Given the description of an element on the screen output the (x, y) to click on. 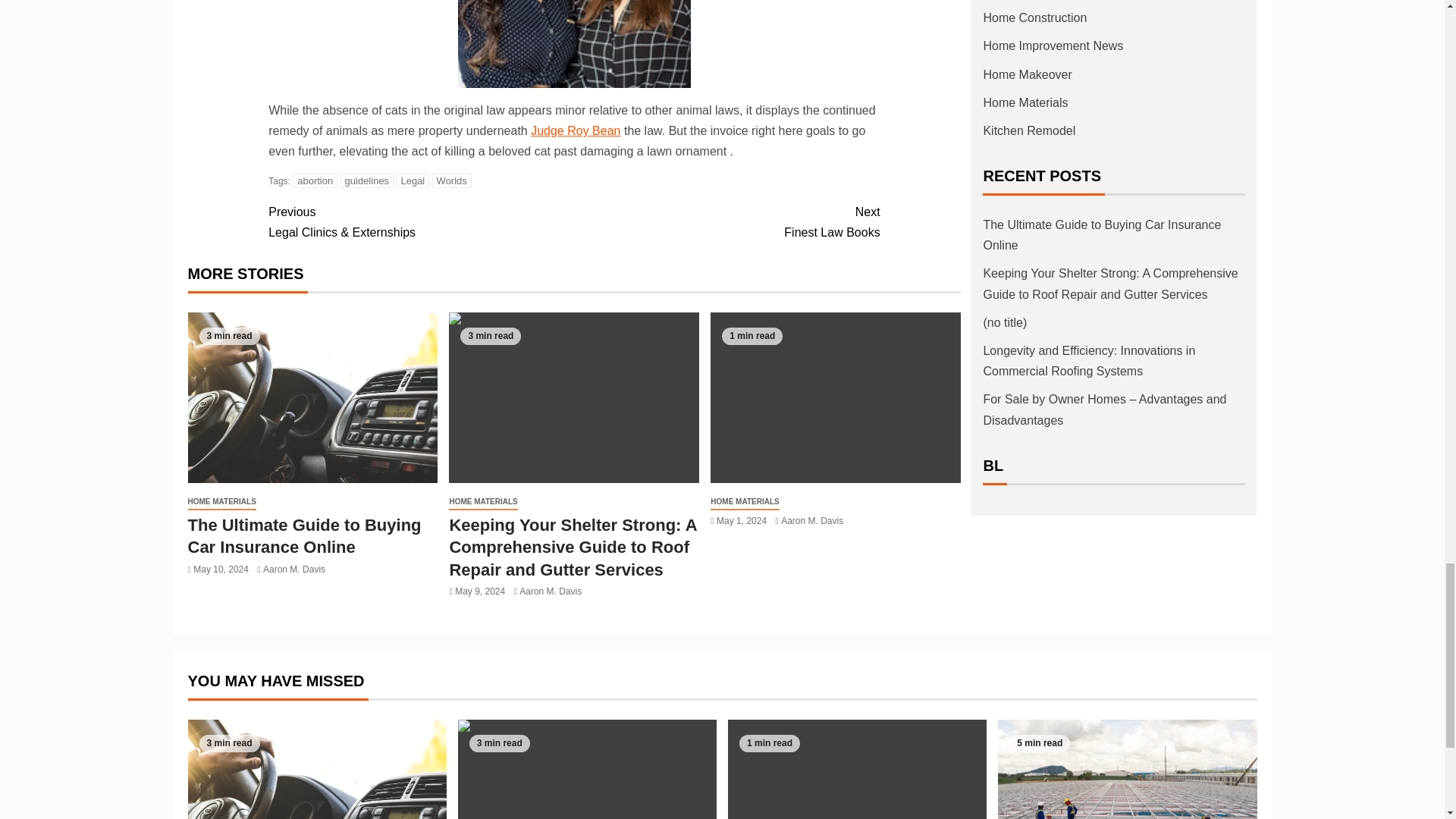
abortion (314, 180)
Judge Roy Bean (575, 130)
HOME MATERIALS (221, 502)
The Ultimate Guide to Buying Car Insurance Online (312, 397)
Legal (412, 180)
guidelines (367, 180)
Worlds (726, 221)
